Given the description of an element on the screen output the (x, y) to click on. 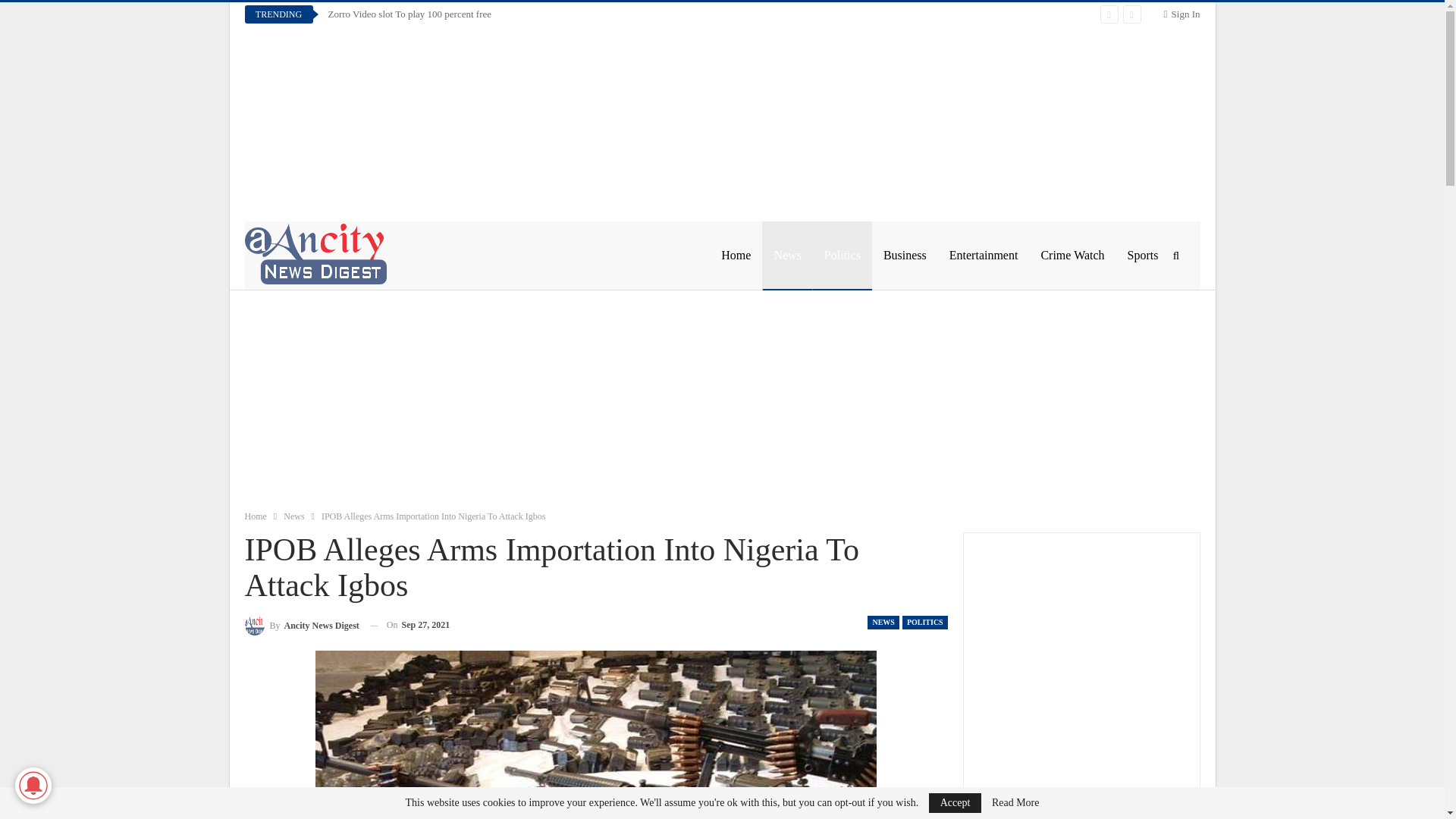
NEWS (882, 622)
Zorro Video slot To play 100 percent free (409, 13)
News (293, 515)
Business (904, 255)
By Ancity News Digest (301, 625)
Home (255, 515)
Entertainment (983, 255)
Crime Watch (1072, 255)
Browse Author Articles (301, 625)
Sign In (1181, 13)
POLITICS (924, 622)
